Given the description of an element on the screen output the (x, y) to click on. 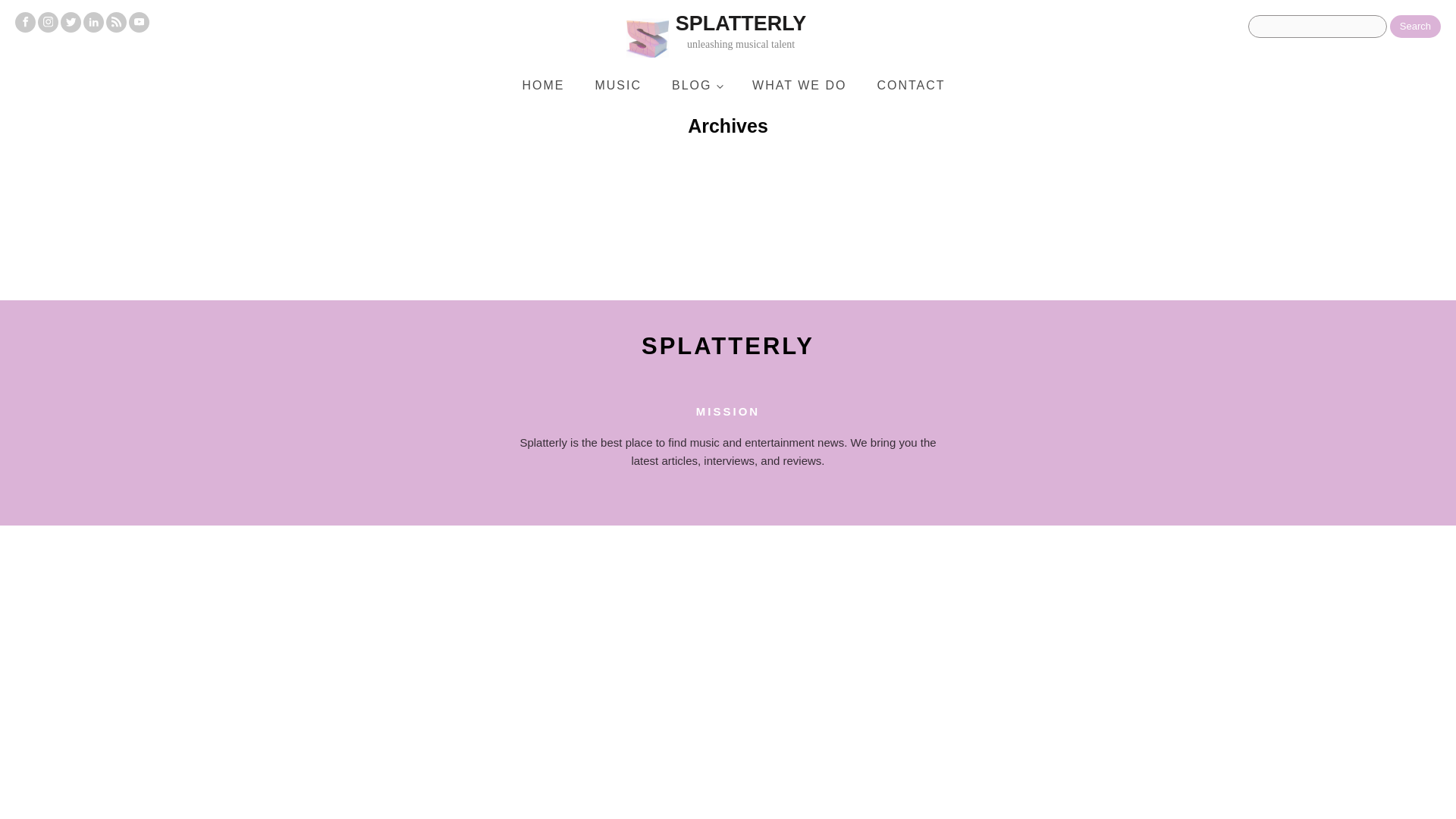
HOME (542, 85)
Search (1415, 26)
MUSIC (617, 85)
SPLATTERLY (727, 346)
WHAT WE DO (759, 36)
BLOG (798, 85)
CONTACT (696, 85)
Search (910, 85)
